Given the description of an element on the screen output the (x, y) to click on. 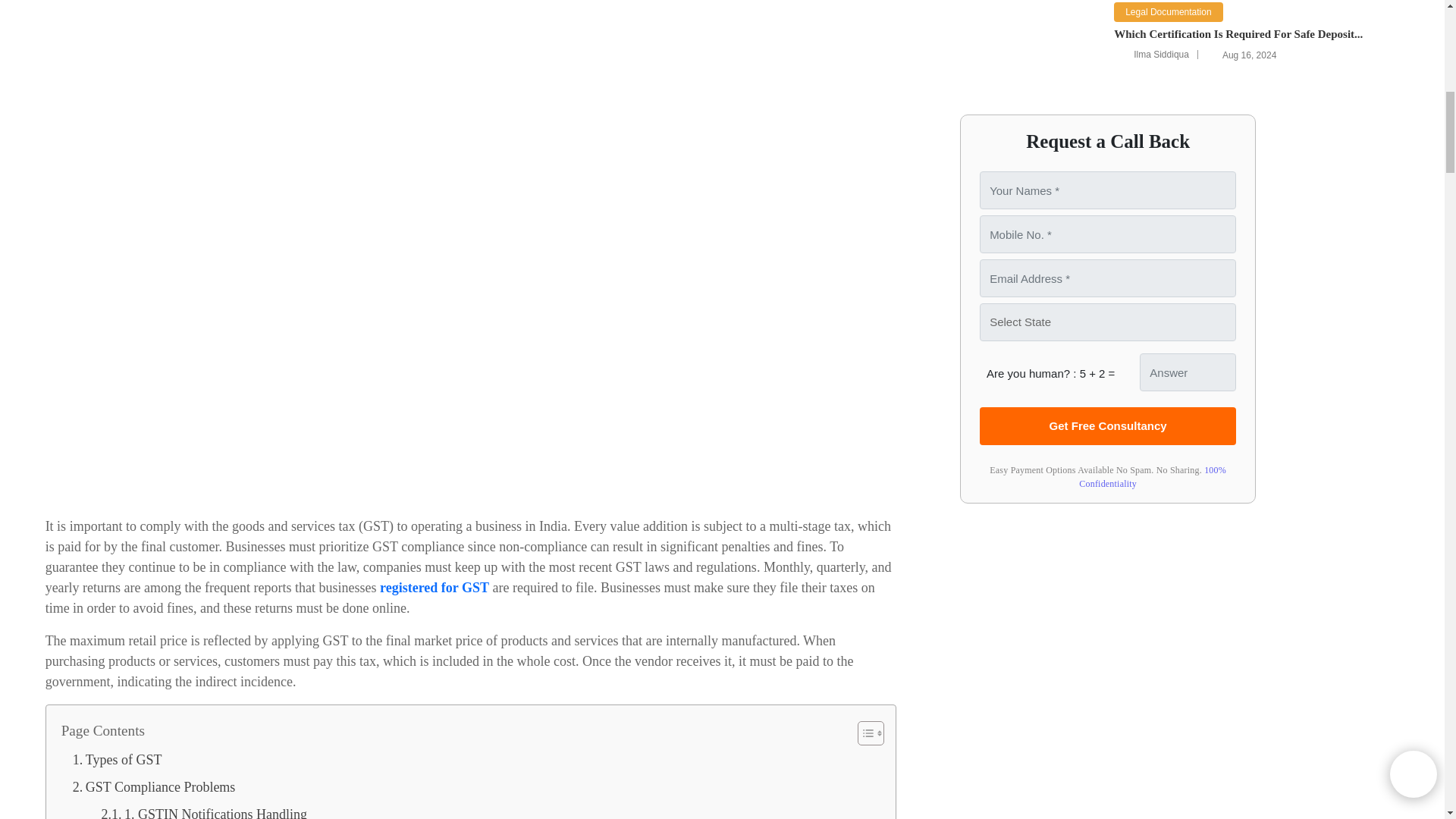
Types of GST (116, 759)
1. GSTIN Notifications Handling (203, 809)
Get Free Consultancy (1107, 426)
GST Compliance Problems (153, 786)
